Given the description of an element on the screen output the (x, y) to click on. 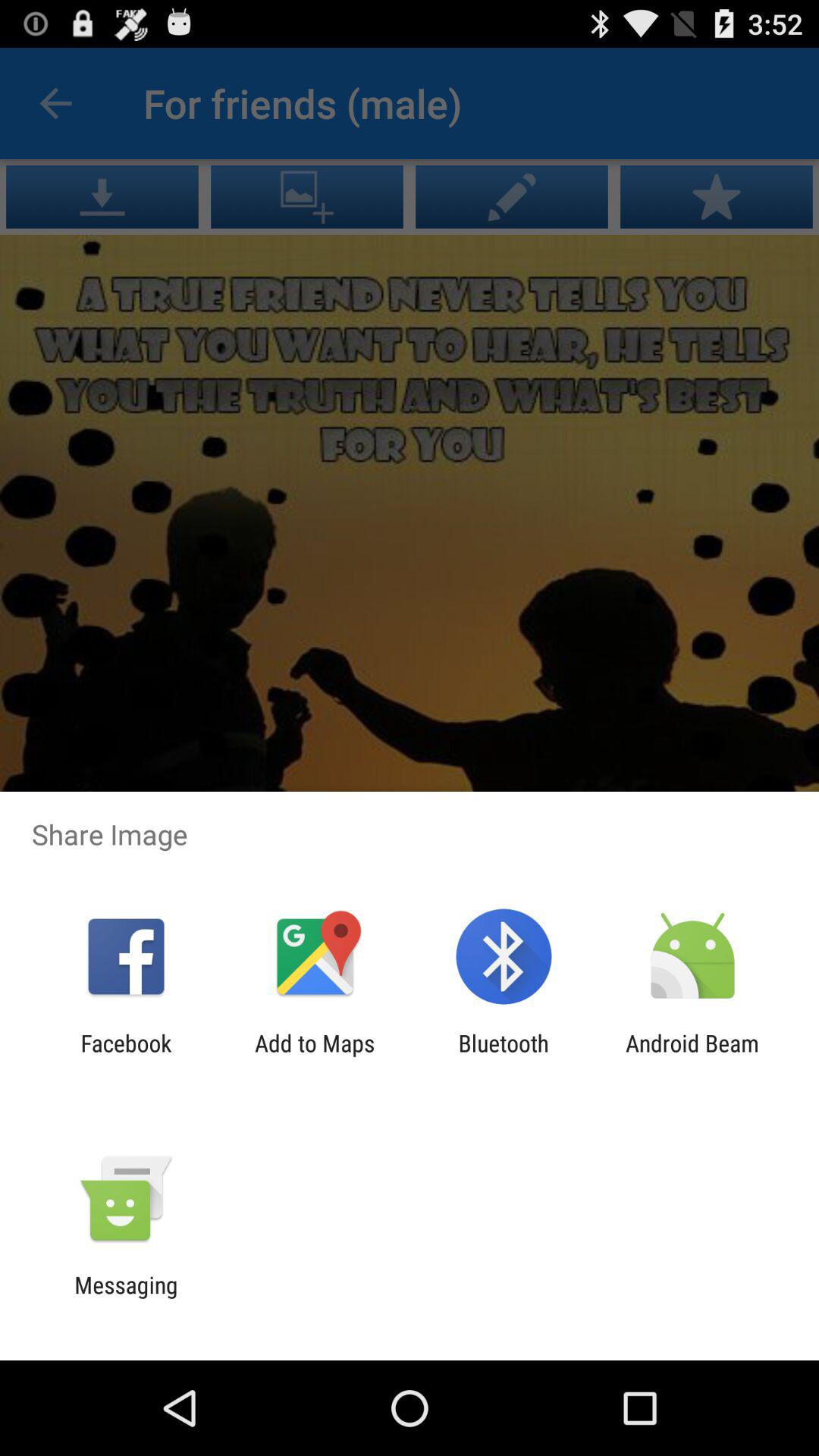
tap android beam app (692, 1056)
